Given the description of an element on the screen output the (x, y) to click on. 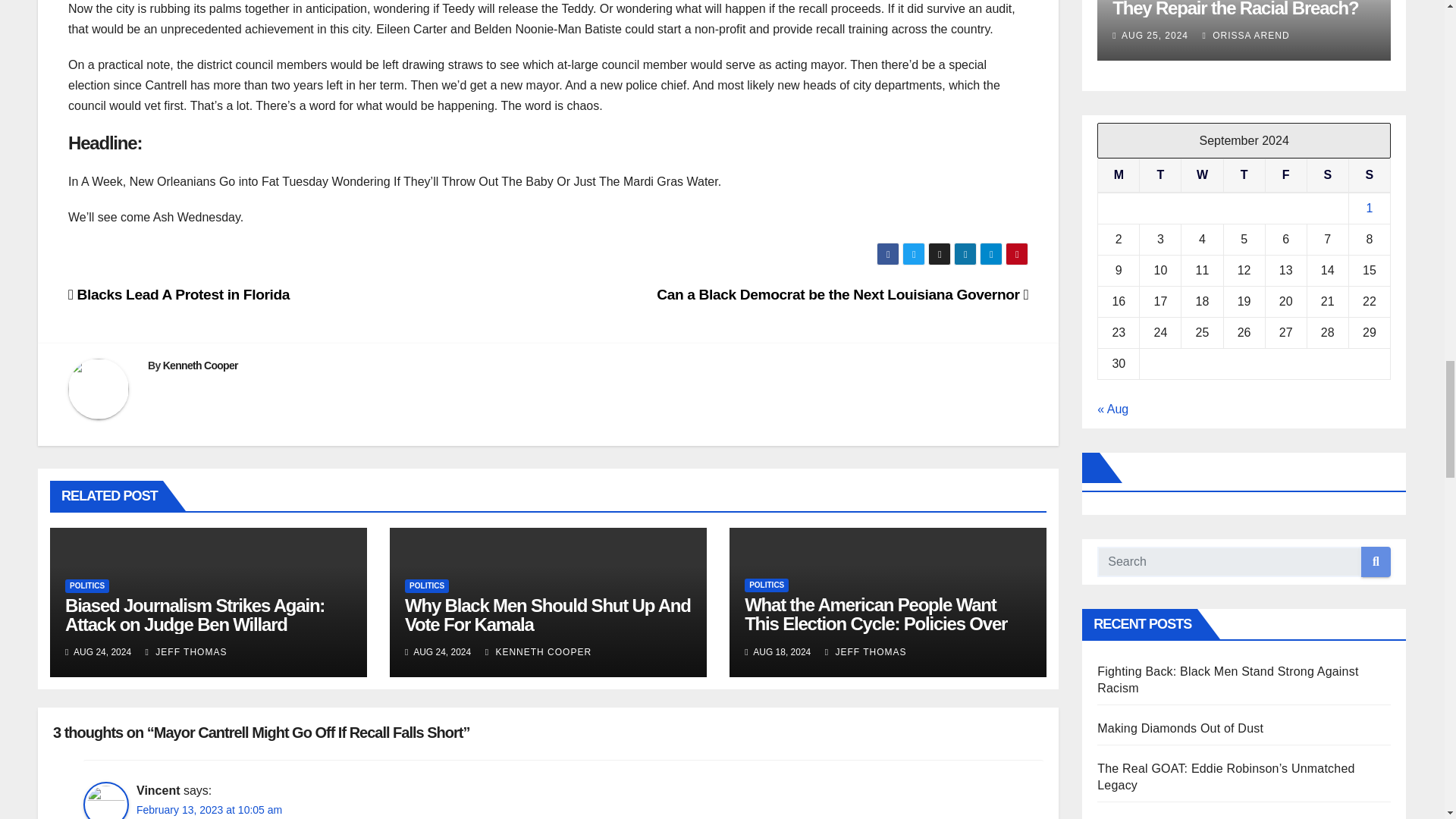
Sunday (1369, 174)
KENNETH COOPER (537, 652)
Blacks Lead A Protest in Florida (178, 294)
POLITICS (87, 585)
Why Black Men Should Shut Up And Vote For Kamala (547, 614)
JEFF THOMAS (866, 652)
Monday (1118, 174)
